Given the description of an element on the screen output the (x, y) to click on. 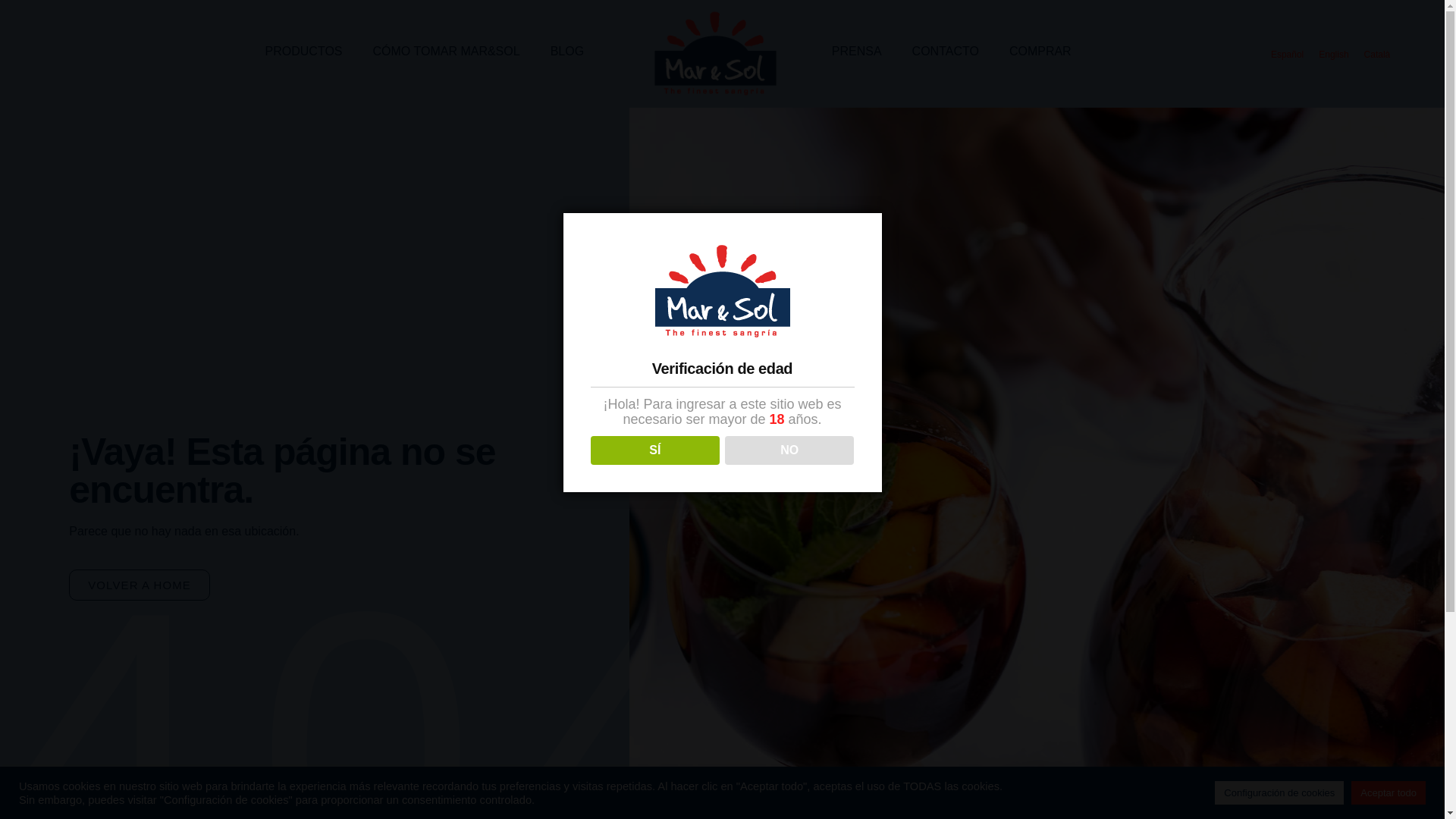
PRENSA (856, 51)
VOLVER A HOME (138, 584)
CONTACTO (945, 51)
English (1333, 54)
PRODUCTOS (304, 51)
BLOG (566, 51)
COMPRAR (1040, 51)
